Given the description of an element on the screen output the (x, y) to click on. 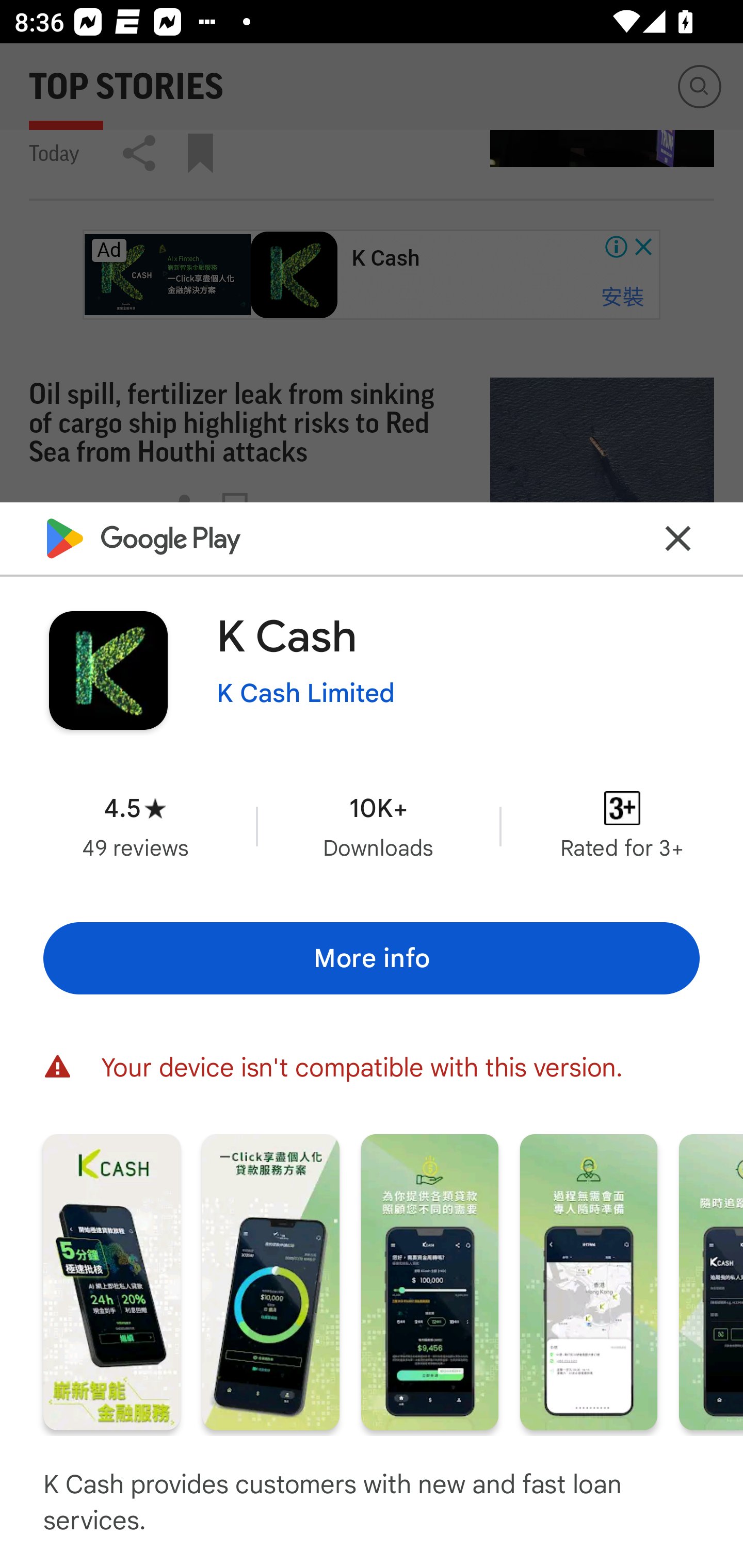
Close (677, 537)
Image of app or game icon for K Cash (108, 670)
K Cash Limited (305, 693)
More info (371, 957)
Screenshot "1" of "5" (111, 1281)
Screenshot "2" of "5" (270, 1281)
Screenshot "3" of "5" (429, 1281)
Screenshot "4" of "5" (588, 1281)
